Given the description of an element on the screen output the (x, y) to click on. 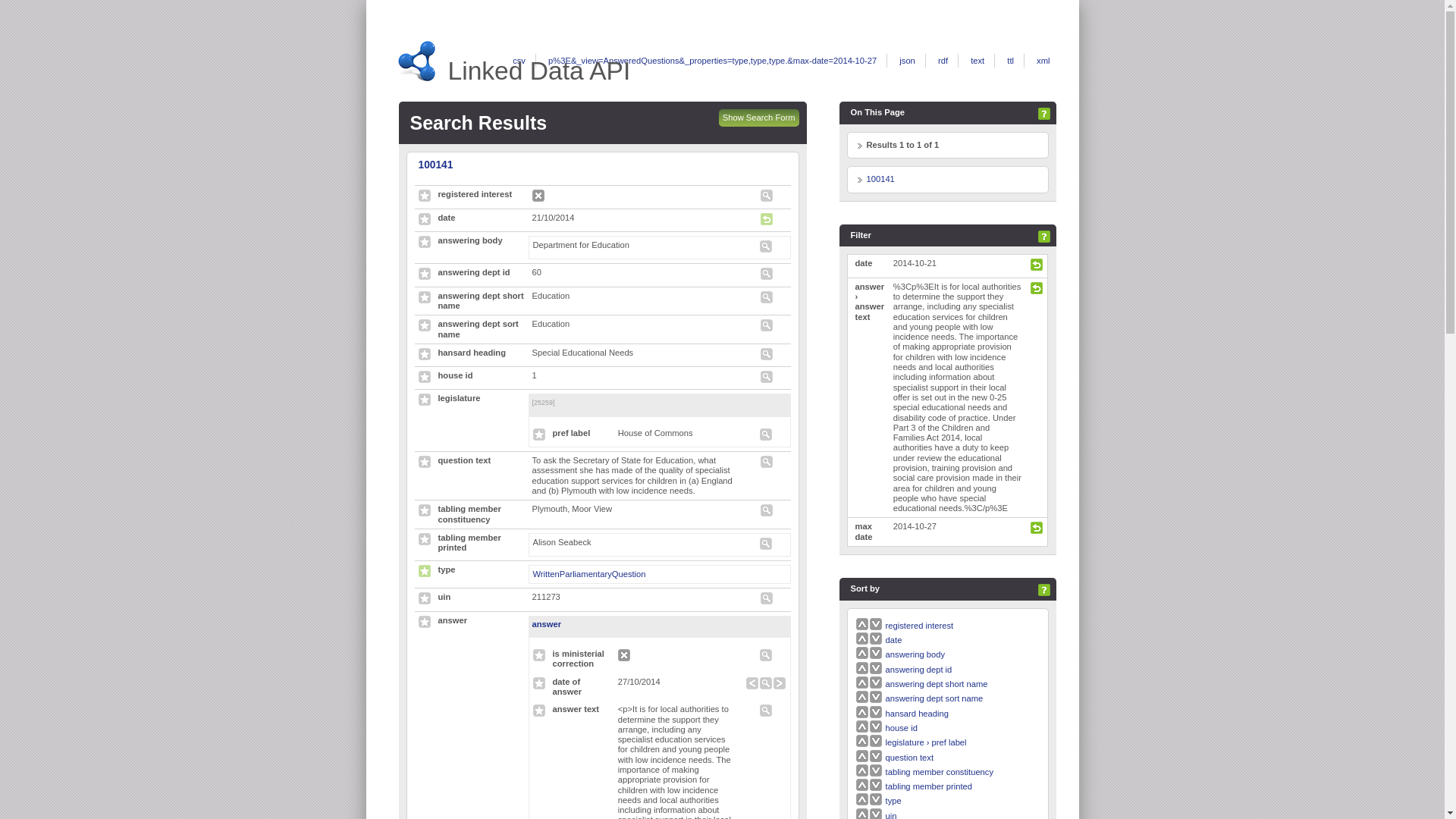
rdf (942, 60)
json (907, 60)
xml (1042, 60)
sort in ascending order (893, 639)
registered interest (920, 624)
text (977, 60)
sort in descending order (875, 624)
remove filter (1035, 266)
100141 (879, 178)
answering dept sort name (934, 697)
sort in ascending order (920, 624)
sort in ascending order (862, 624)
jump to item on this page (879, 178)
Linked Data API (538, 70)
answering body (914, 654)
